Given the description of an element on the screen output the (x, y) to click on. 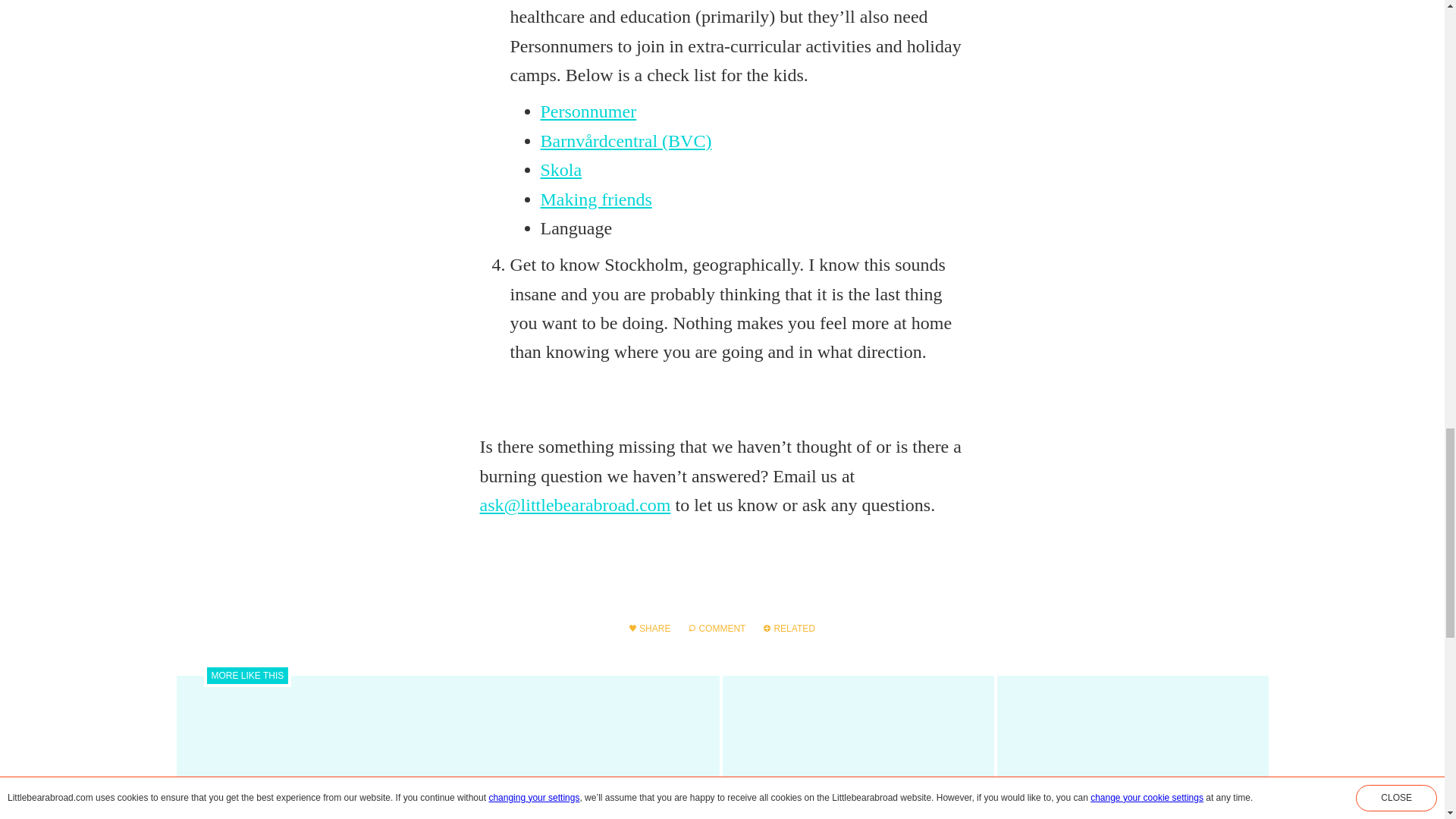
Personnumer (588, 111)
COMMENT (716, 628)
Skola (560, 169)
Making friends (595, 199)
SHARE (648, 628)
RELATED (787, 628)
